Given the description of an element on the screen output the (x, y) to click on. 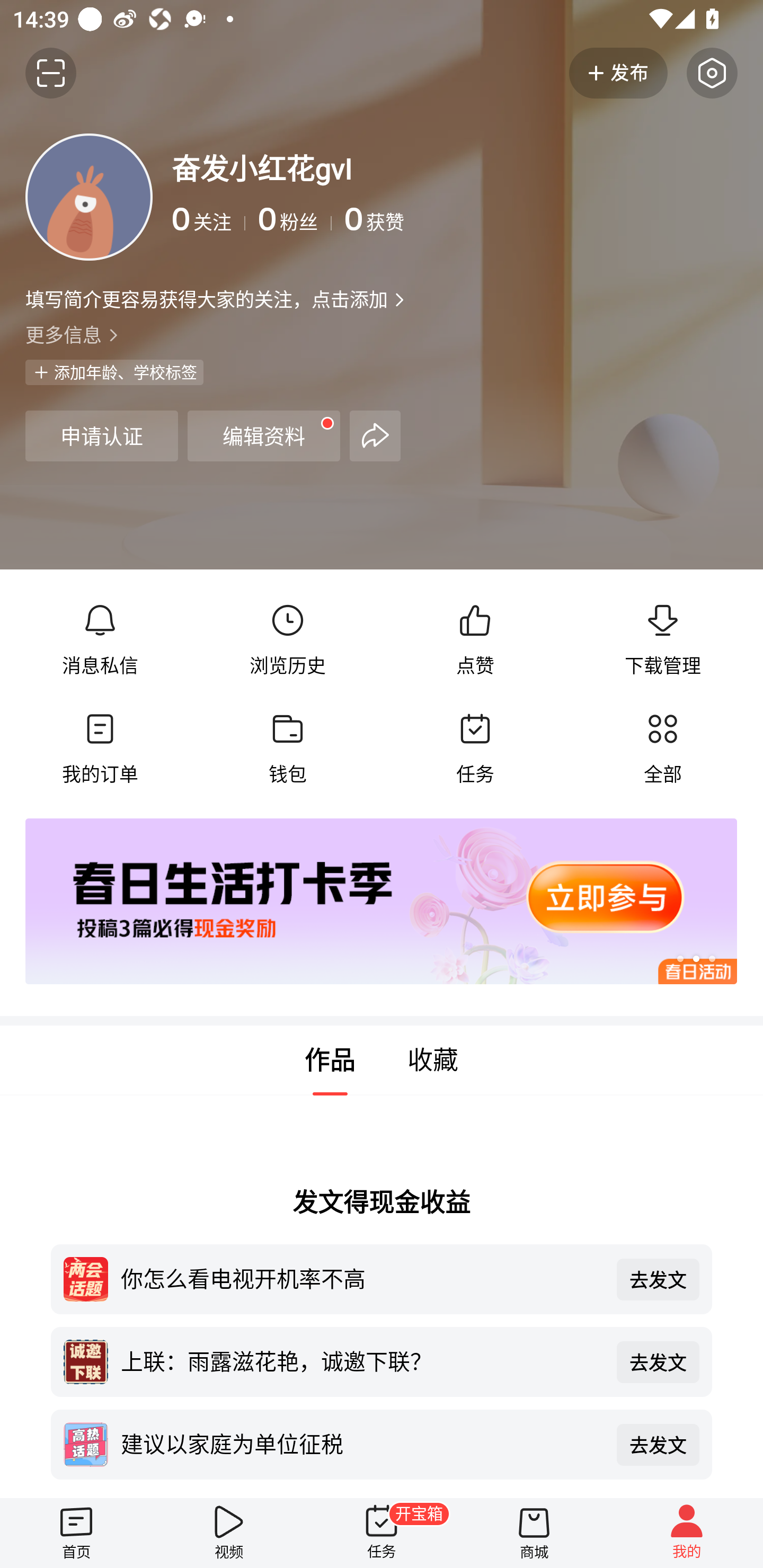
扫一扫 (50, 72)
发布 (618, 72)
设置 (711, 72)
头像 (88, 196)
0 关注 (208, 219)
0 粉丝 (294, 219)
0 获赞 (540, 219)
填写简介更容易获得大家的关注，点击添加 (206, 298)
更多信息 (381, 333)
添加年龄、学校标签 (114, 372)
申请认证 (101, 435)
编辑资料 (263, 435)
分享 (374, 435)
消息私信 (99, 639)
浏览历史 (287, 639)
点赞 (475, 639)
下载管理 (662, 639)
我的订单 (99, 748)
钱包 (287, 748)
任务 (475, 748)
全部 (662, 748)
图片链接 (368, 901)
作品 (329, 1060)
收藏 (432, 1060)
你怎么看电视开机率不高 (362, 1278)
去发文 (657, 1279)
上联：雨露滋花艳，诚邀下联？ (362, 1360)
去发文 (657, 1361)
建议以家庭为单位征税 (362, 1443)
去发文 (657, 1444)
首页 (76, 1532)
视频 (228, 1532)
任务 开宝箱 (381, 1532)
商城 (533, 1532)
我的 (686, 1532)
